Given the description of an element on the screen output the (x, y) to click on. 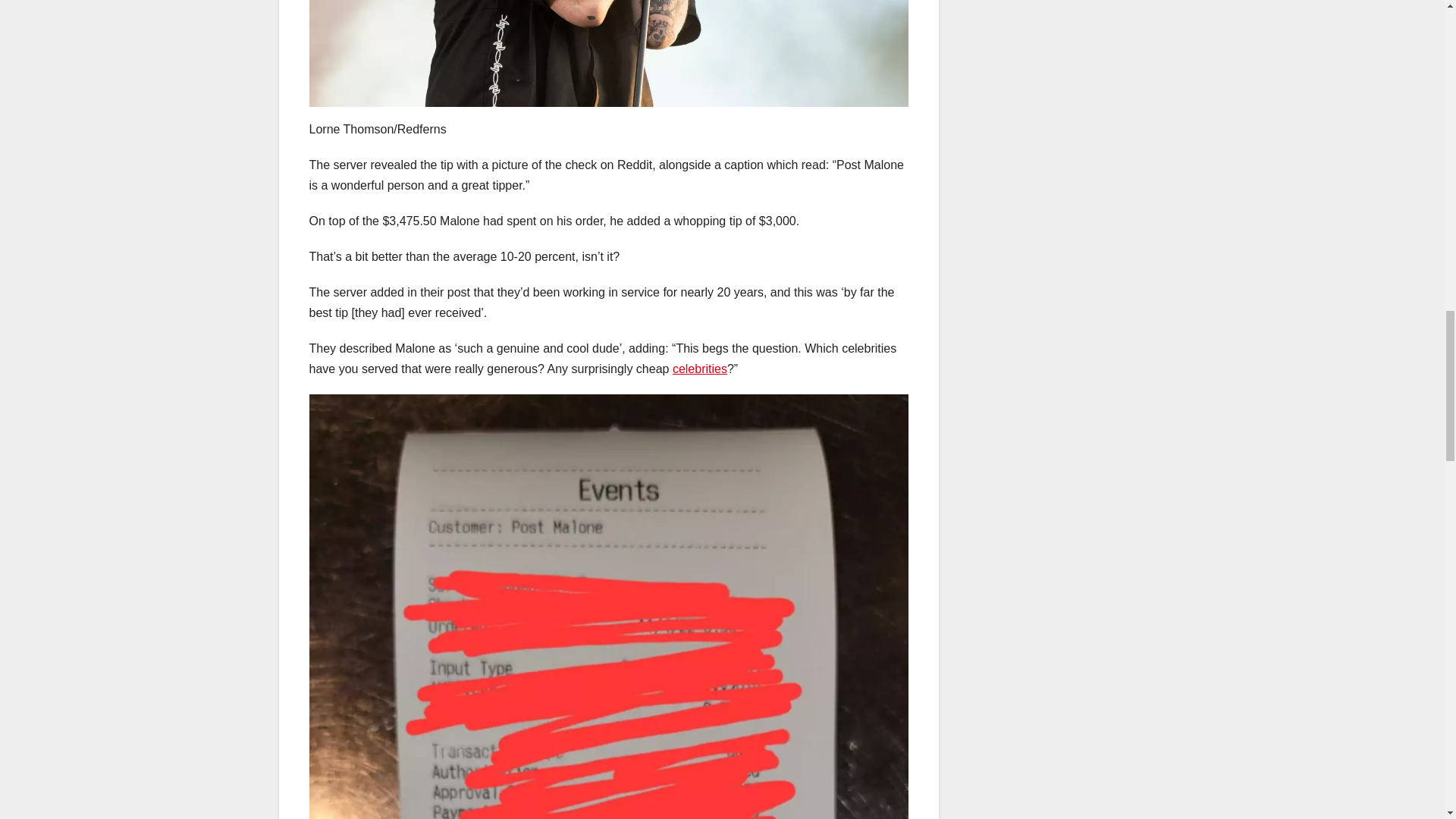
celebrities (699, 368)
